Given the description of an element on the screen output the (x, y) to click on. 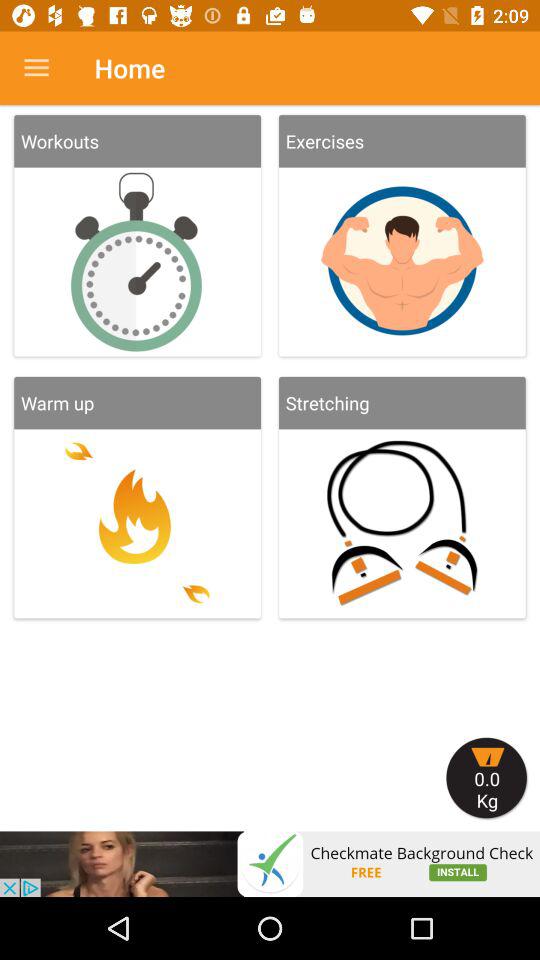
opens the advertisement (270, 864)
